Given the description of an element on the screen output the (x, y) to click on. 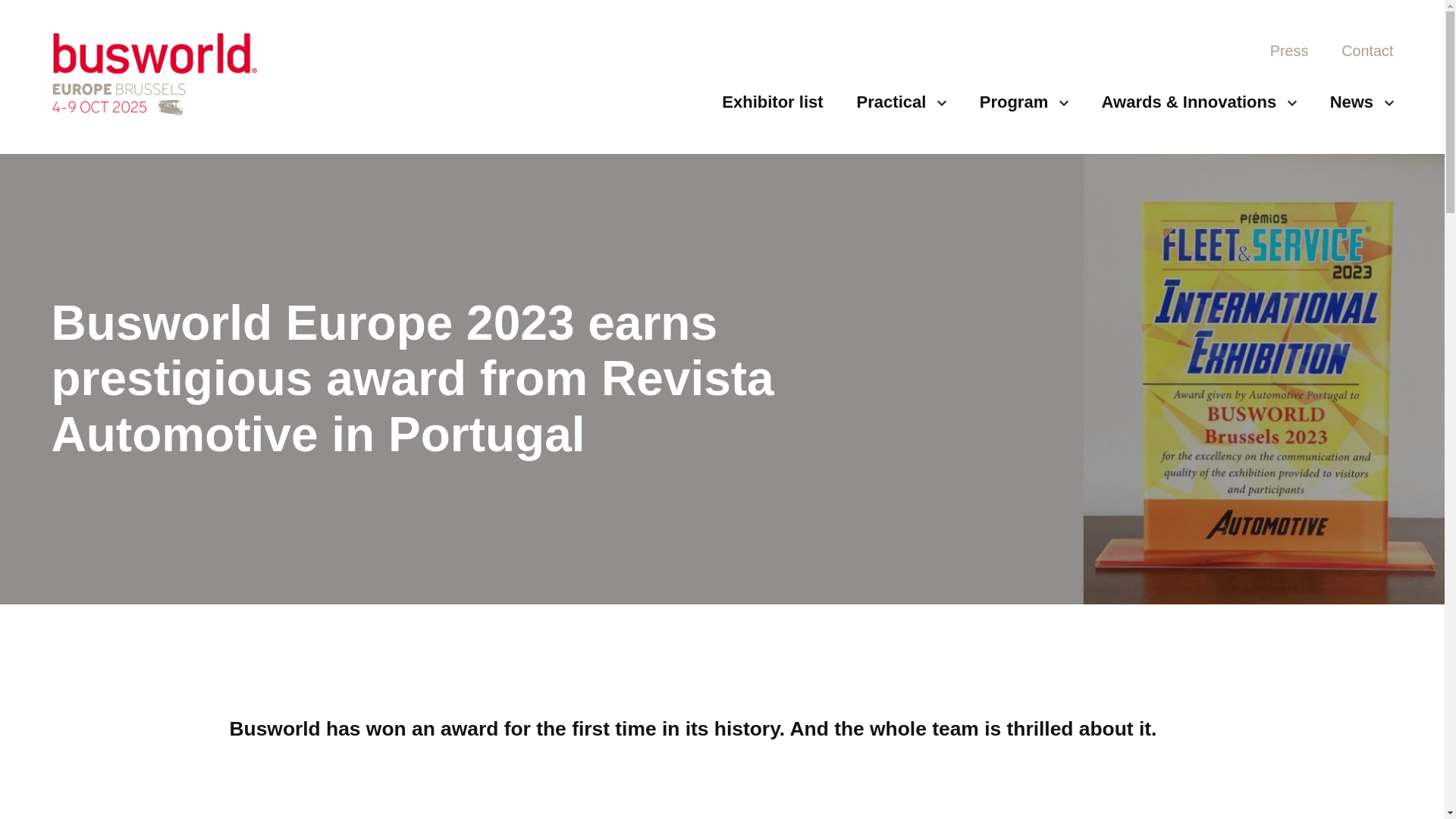
Contact (1366, 50)
Program (1023, 101)
Busworld Europe 2025 (153, 75)
News (1361, 101)
Practical (901, 101)
Exhibitor list (772, 101)
Press (1288, 50)
